Given the description of an element on the screen output the (x, y) to click on. 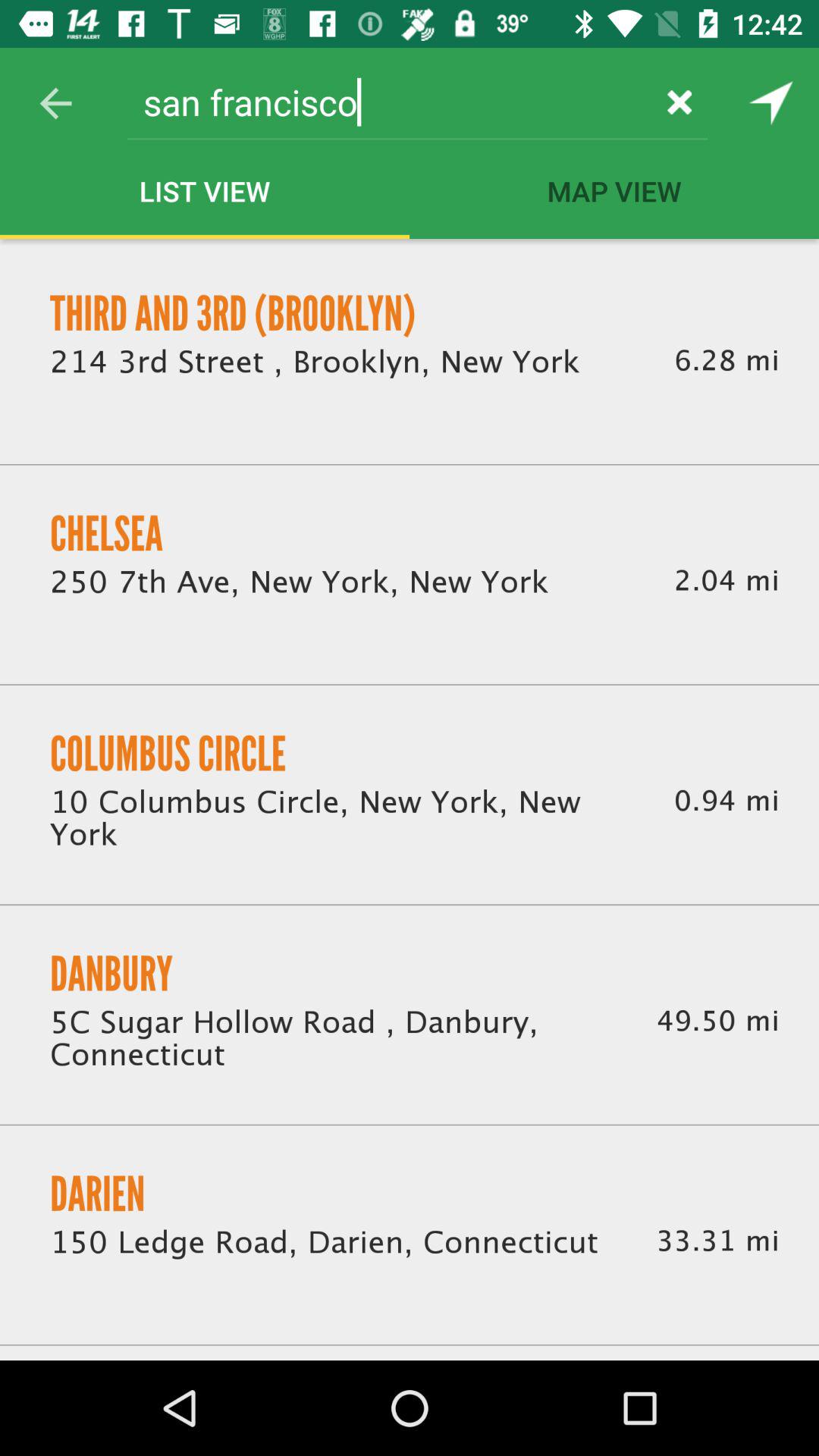
flip until the 250 7th ave icon (299, 582)
